Given the description of an element on the screen output the (x, y) to click on. 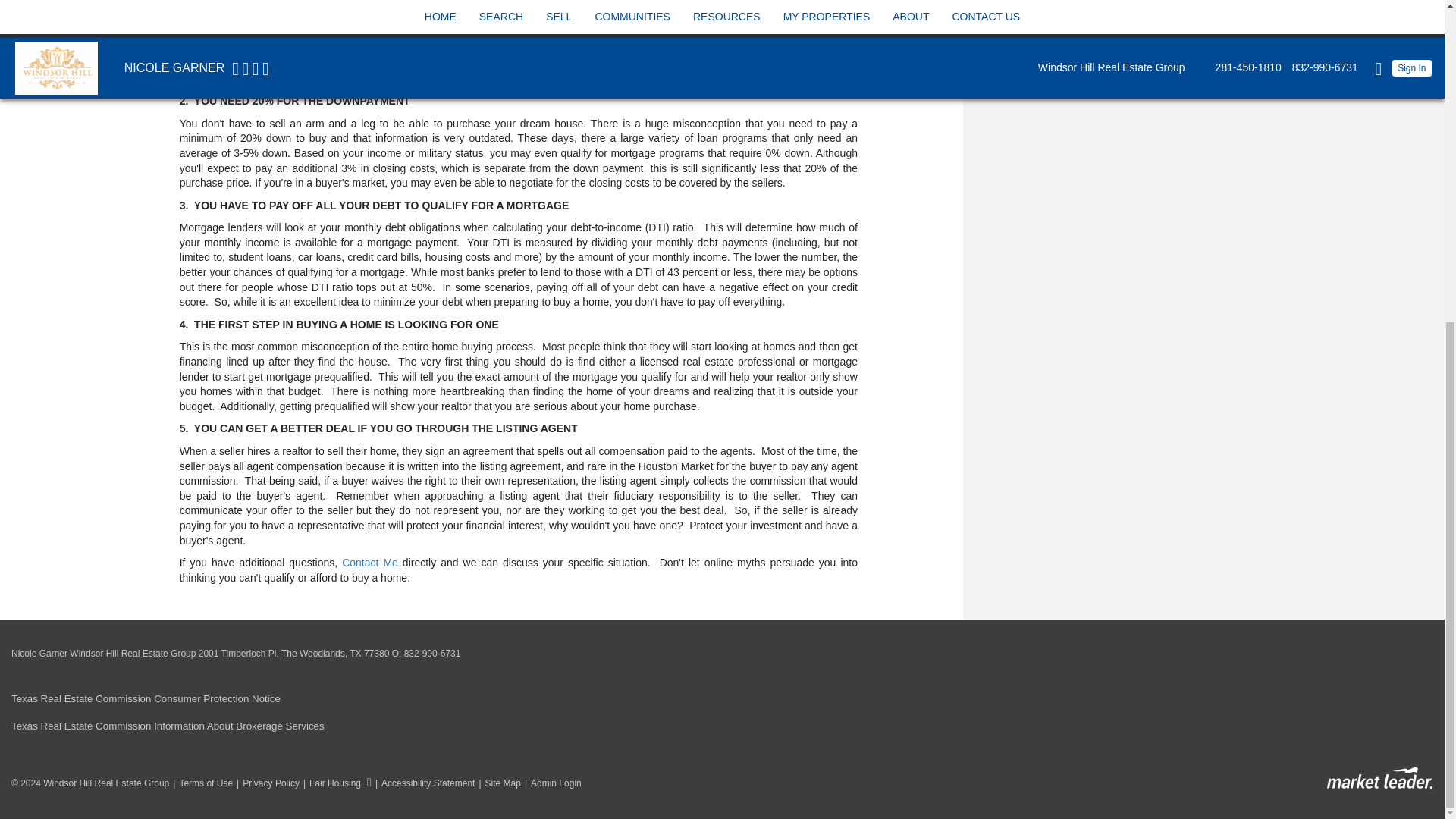
Contact Me (369, 562)
Powered By Market Leader (1379, 778)
